Given the description of an element on the screen output the (x, y) to click on. 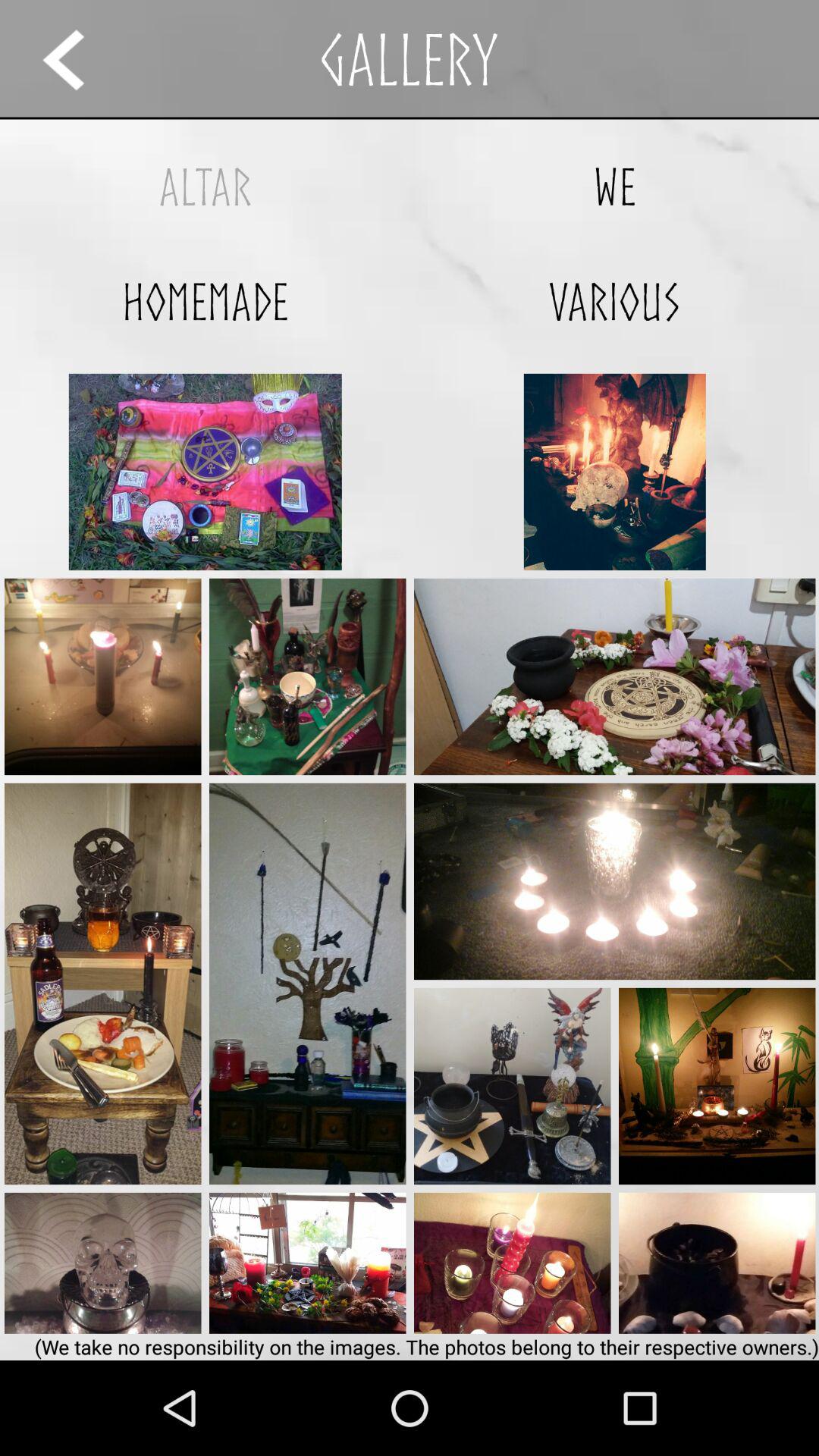
open item next to the various item (204, 301)
